Given the description of an element on the screen output the (x, y) to click on. 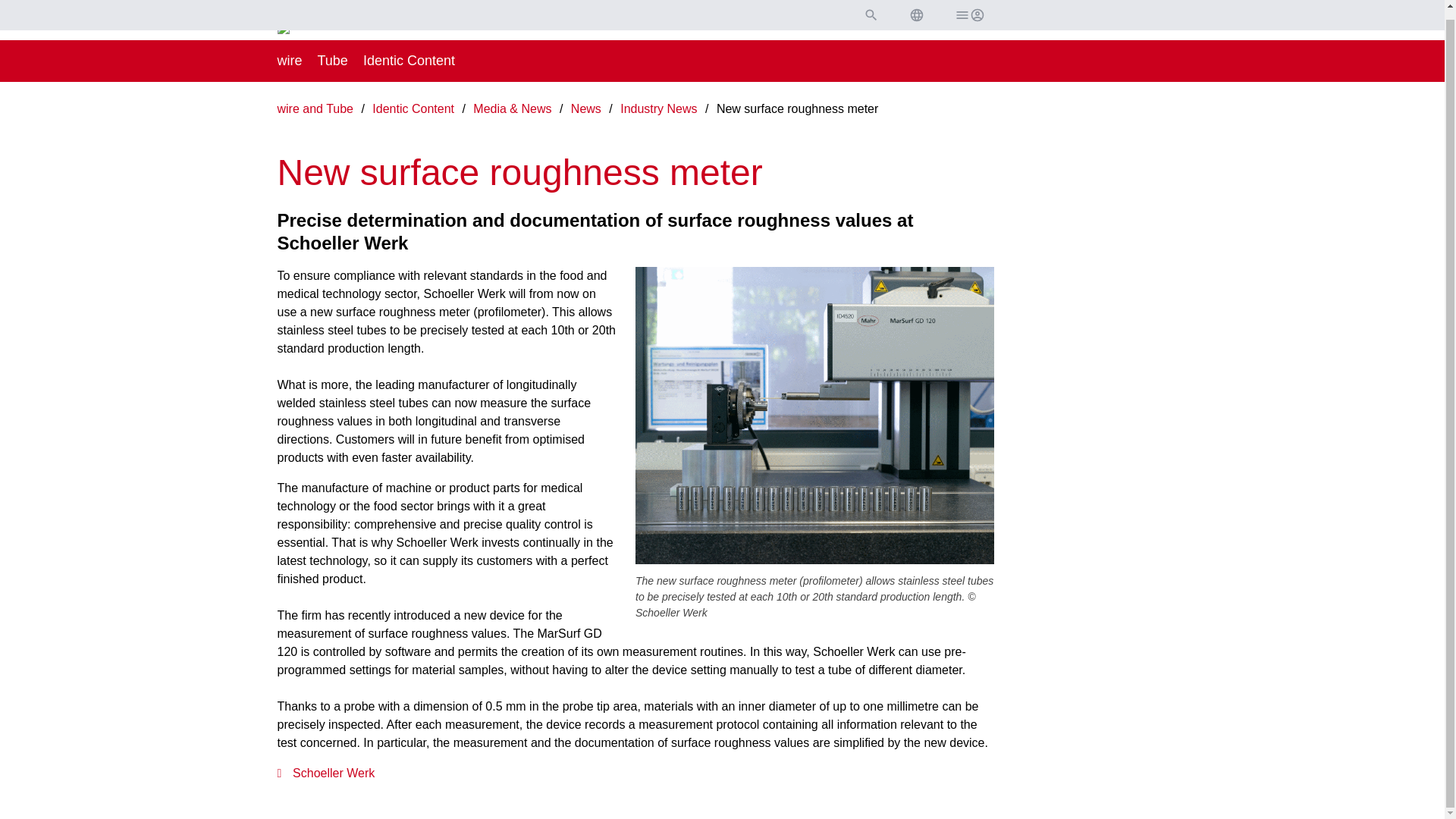
wire (290, 60)
wire (290, 60)
Login (968, 7)
Tube (332, 60)
English (915, 7)
Search (870, 7)
